Given the description of an element on the screen output the (x, y) to click on. 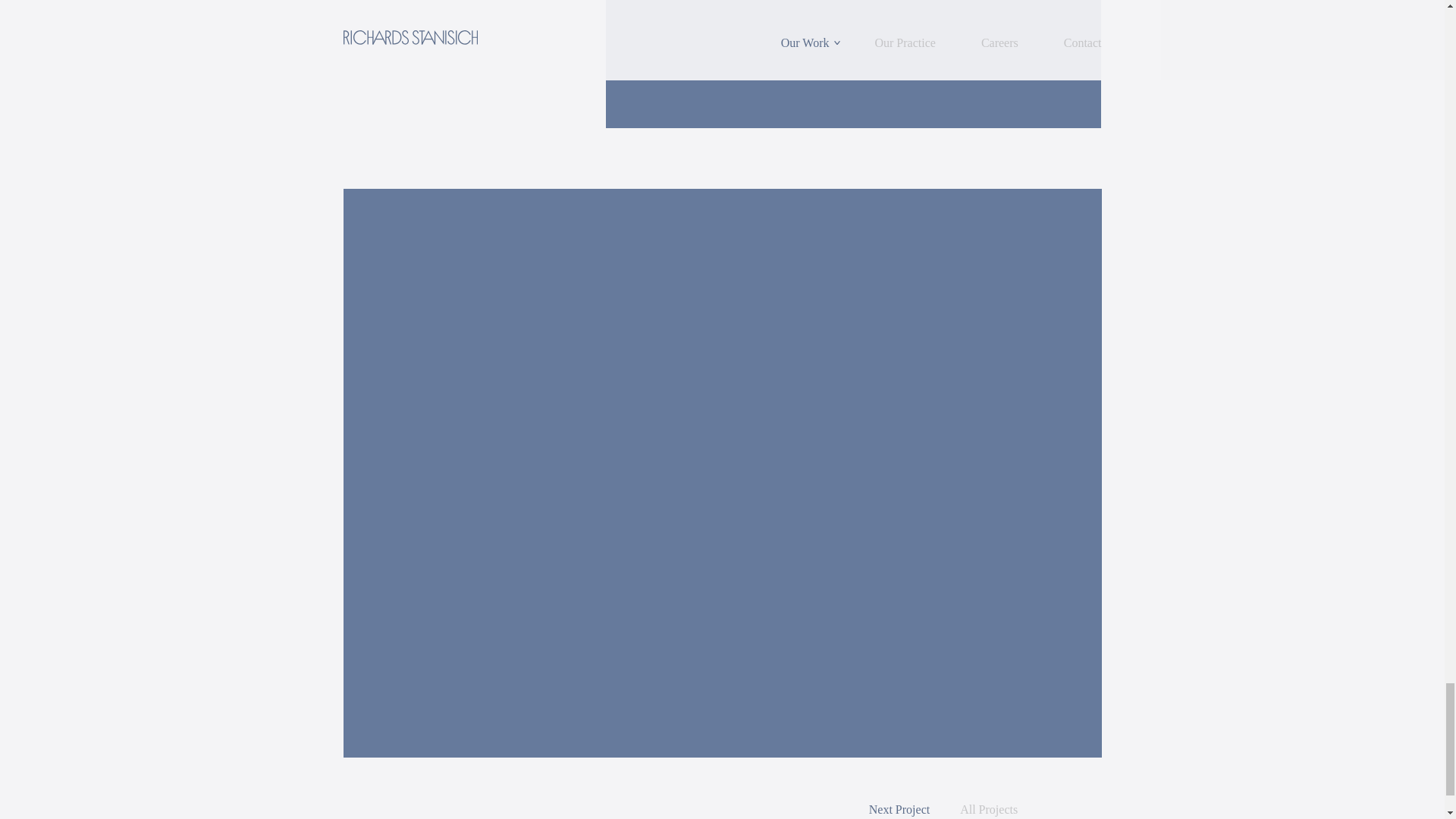
All Projects (988, 809)
Next Project (899, 809)
